Given the description of an element on the screen output the (x, y) to click on. 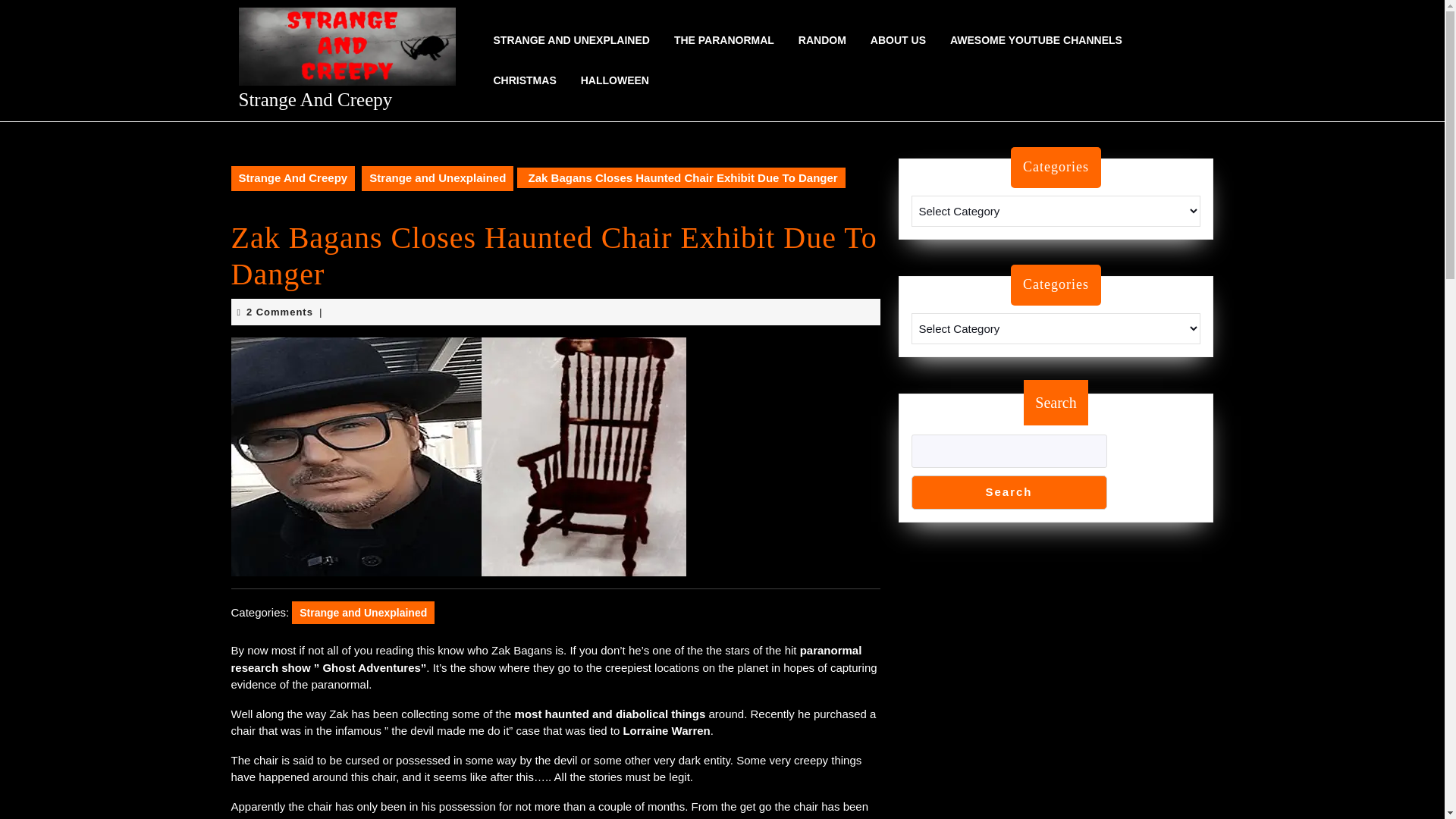
HALLOWEEN (615, 80)
Strange and Unexplained (437, 178)
ABOUT US (898, 40)
THE PARANORMAL (724, 40)
RANDOM (822, 40)
Strange And Creepy (292, 178)
Strange And Creepy (314, 99)
CHRISTMAS (523, 80)
Strange and Unexplained (362, 612)
Search (1008, 492)
